Given the description of an element on the screen output the (x, y) to click on. 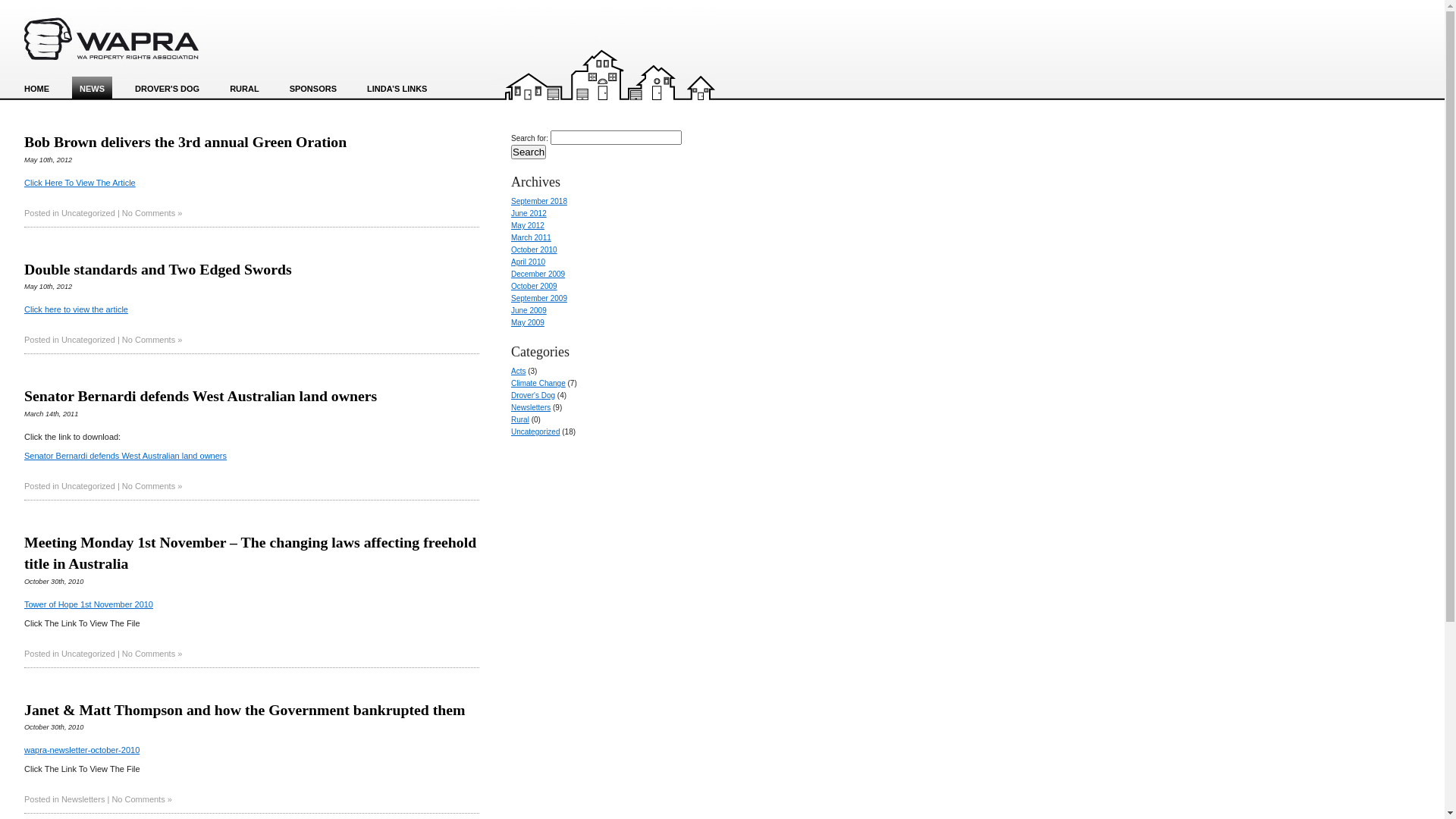
Tower of Hope 1st November 2010 Element type: text (88, 603)
October 2009 Element type: text (534, 286)
Senator Bernardi defends West Australian land owners Element type: text (125, 455)
June 2009 Element type: text (528, 310)
Double standards and Two Edged Swords Element type: text (157, 268)
Newsletters Element type: text (82, 798)
DROVER'S DOG Element type: text (167, 88)
Senator Bernardi defends West Australian land owners Element type: text (200, 395)
NEWS Element type: text (92, 88)
Uncategorized Element type: text (535, 431)
SPONSORS Element type: text (313, 88)
October 2010 Element type: text (534, 249)
Bob Brown delivers the 3rd annual Green Oration Element type: text (185, 141)
Click here to view the article Element type: text (76, 308)
Drover's Dog Element type: text (533, 395)
Rural Element type: text (520, 419)
RURAL Element type: text (244, 88)
May 2009 Element type: text (527, 322)
HOME Element type: text (36, 88)
Janet & Matt Thompson and how the Government bankrupted them Element type: text (244, 709)
wapra-newsletter-october-2010 Element type: text (81, 749)
Uncategorized Element type: text (88, 485)
April 2010 Element type: text (528, 261)
Uncategorized Element type: text (88, 212)
May 2012 Element type: text (527, 225)
June 2012 Element type: text (528, 213)
September 2018 Element type: text (539, 201)
Uncategorized Element type: text (88, 653)
Newsletters Element type: text (530, 407)
March 2011 Element type: text (531, 237)
Acts Element type: text (518, 371)
Search Element type: text (528, 151)
December 2009 Element type: text (537, 273)
September 2009 Element type: text (539, 298)
Click Here To View The Article Element type: text (79, 182)
Uncategorized Element type: text (88, 339)
Climate Change Element type: text (538, 383)
